Given the description of an element on the screen output the (x, y) to click on. 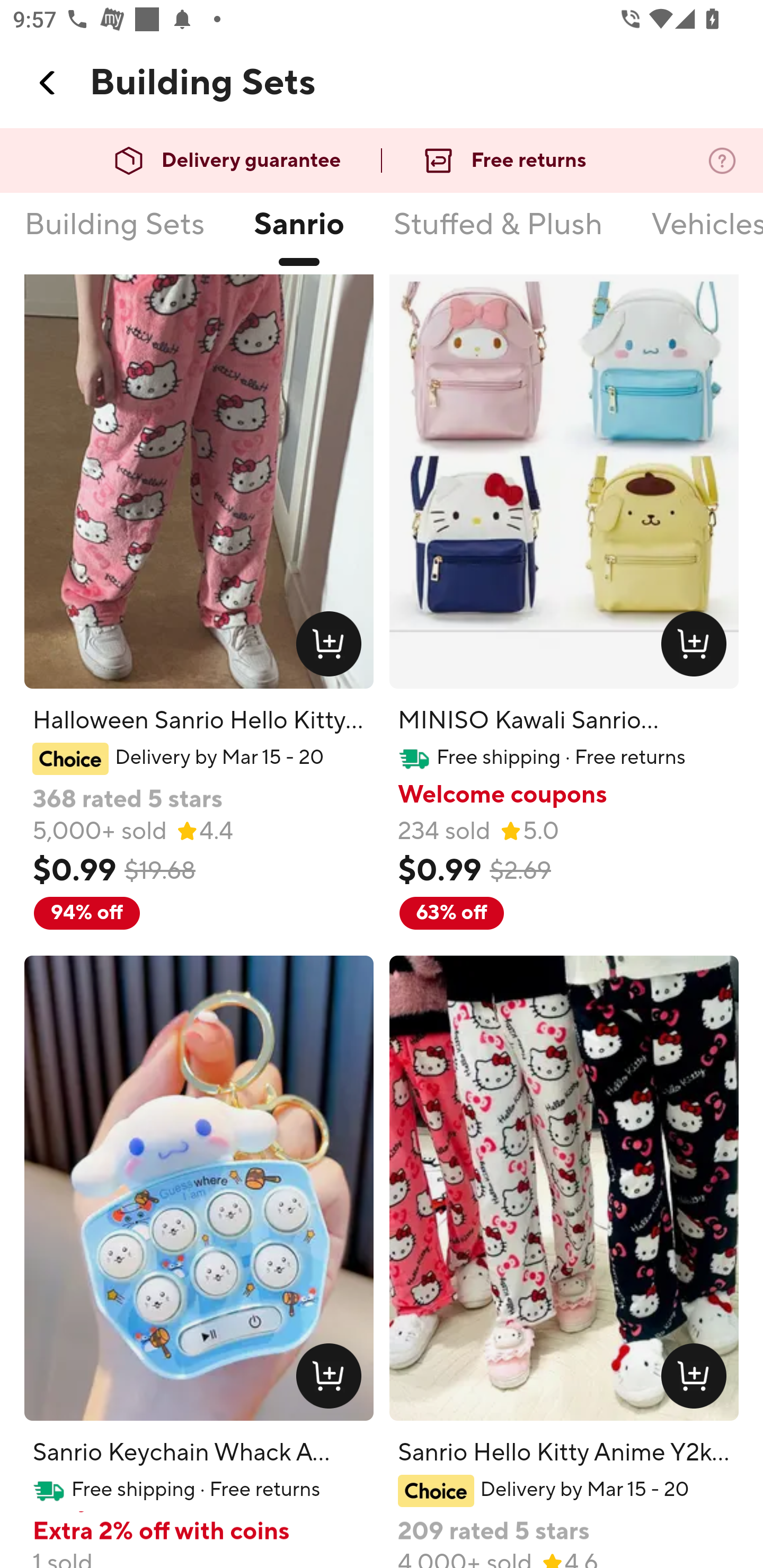
 (48, 82)
Stuffed & Plush (497, 168)
Vehicles (706, 168)
Building Sets (114, 235)
Sanrio (298, 235)
Stuffed & Plush (497, 235)
Vehicles (706, 235)
